Given the description of an element on the screen output the (x, y) to click on. 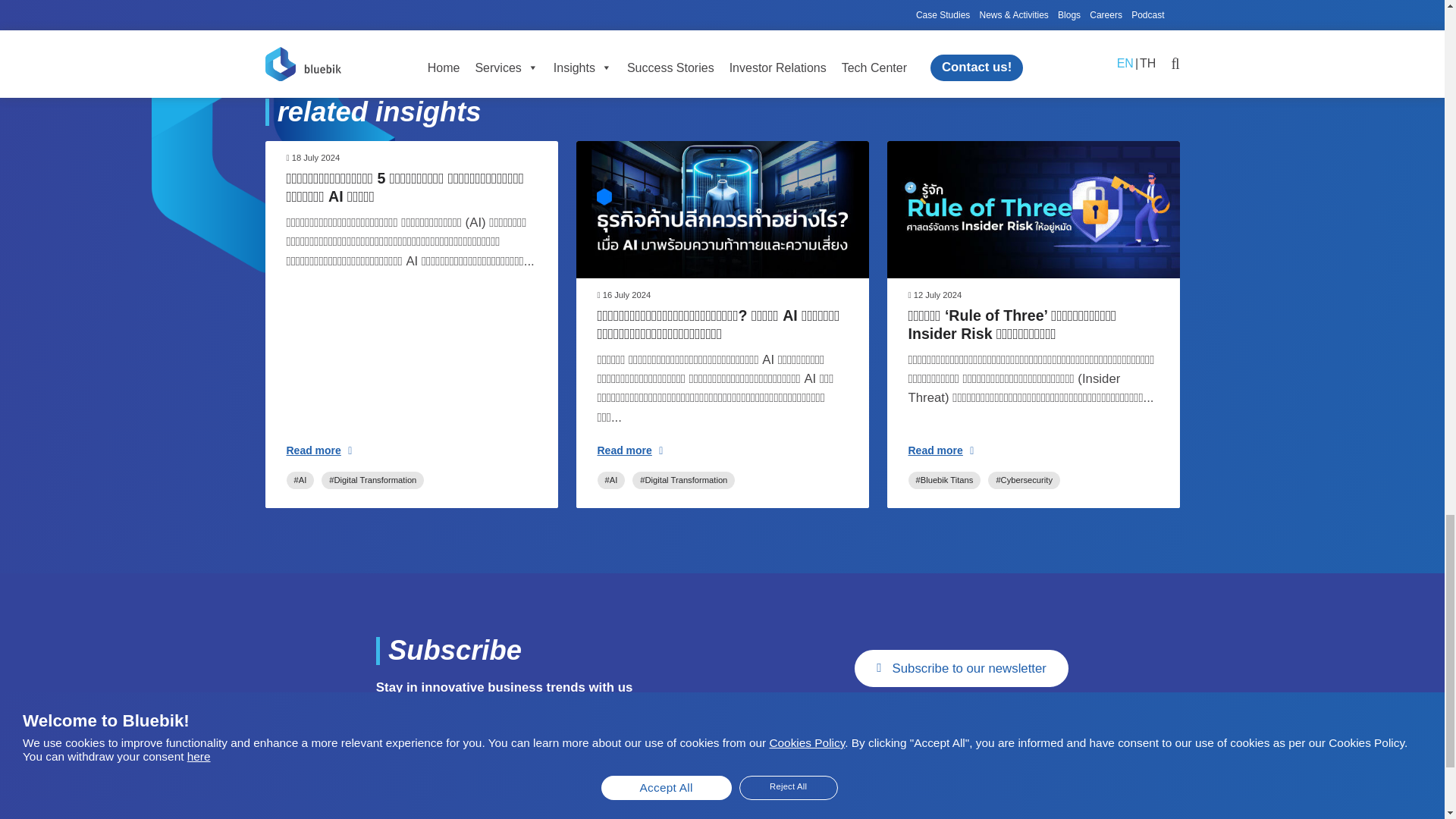
Read more (319, 450)
Read more (629, 450)
